Given the description of an element on the screen output the (x, y) to click on. 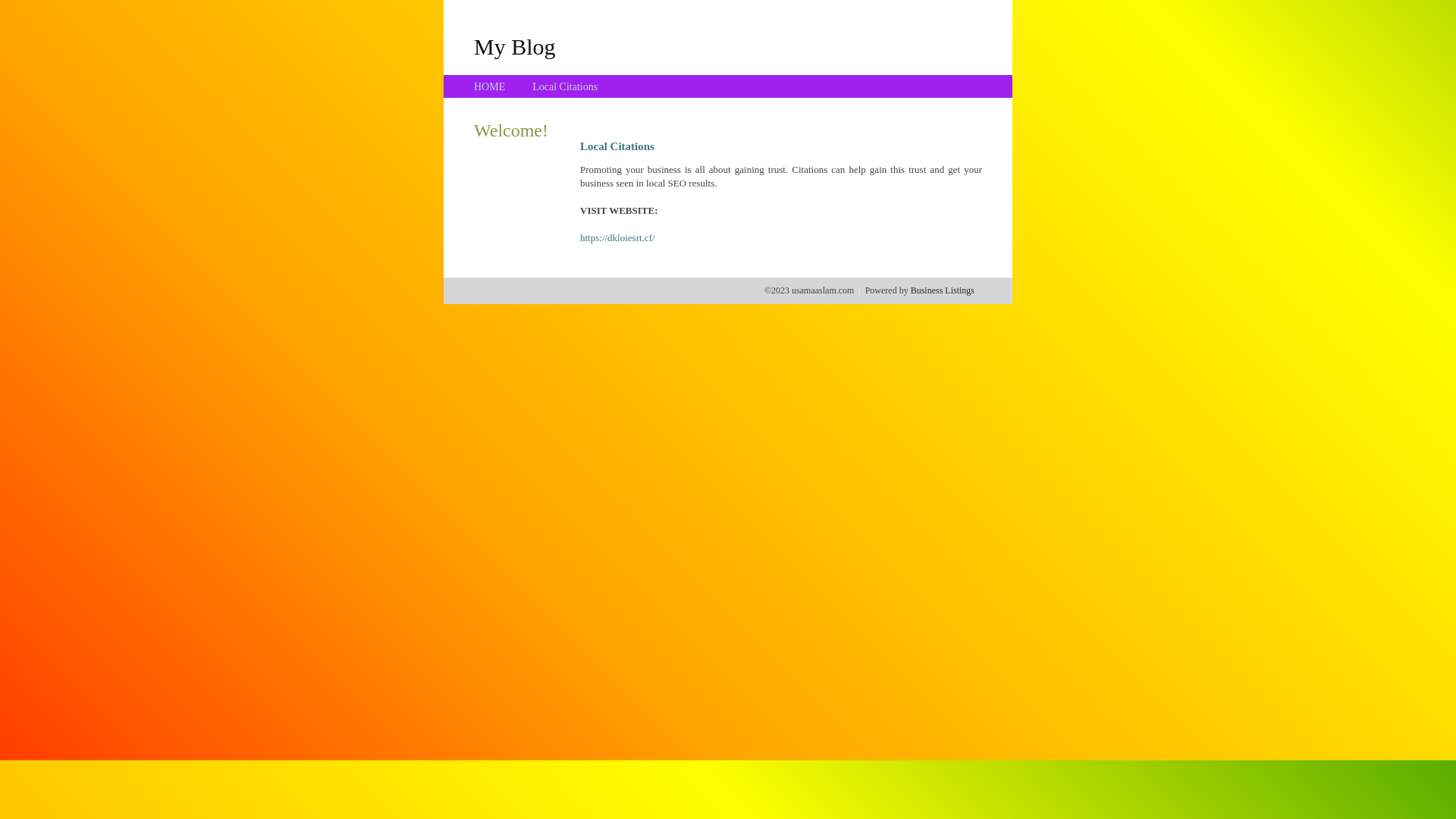
Local Citations Element type: text (564, 86)
Business Listings Element type: text (942, 290)
https://dkloiesrt.cf/ Element type: text (617, 237)
My Blog Element type: text (514, 46)
HOME Element type: text (489, 86)
